Given the description of an element on the screen output the (x, y) to click on. 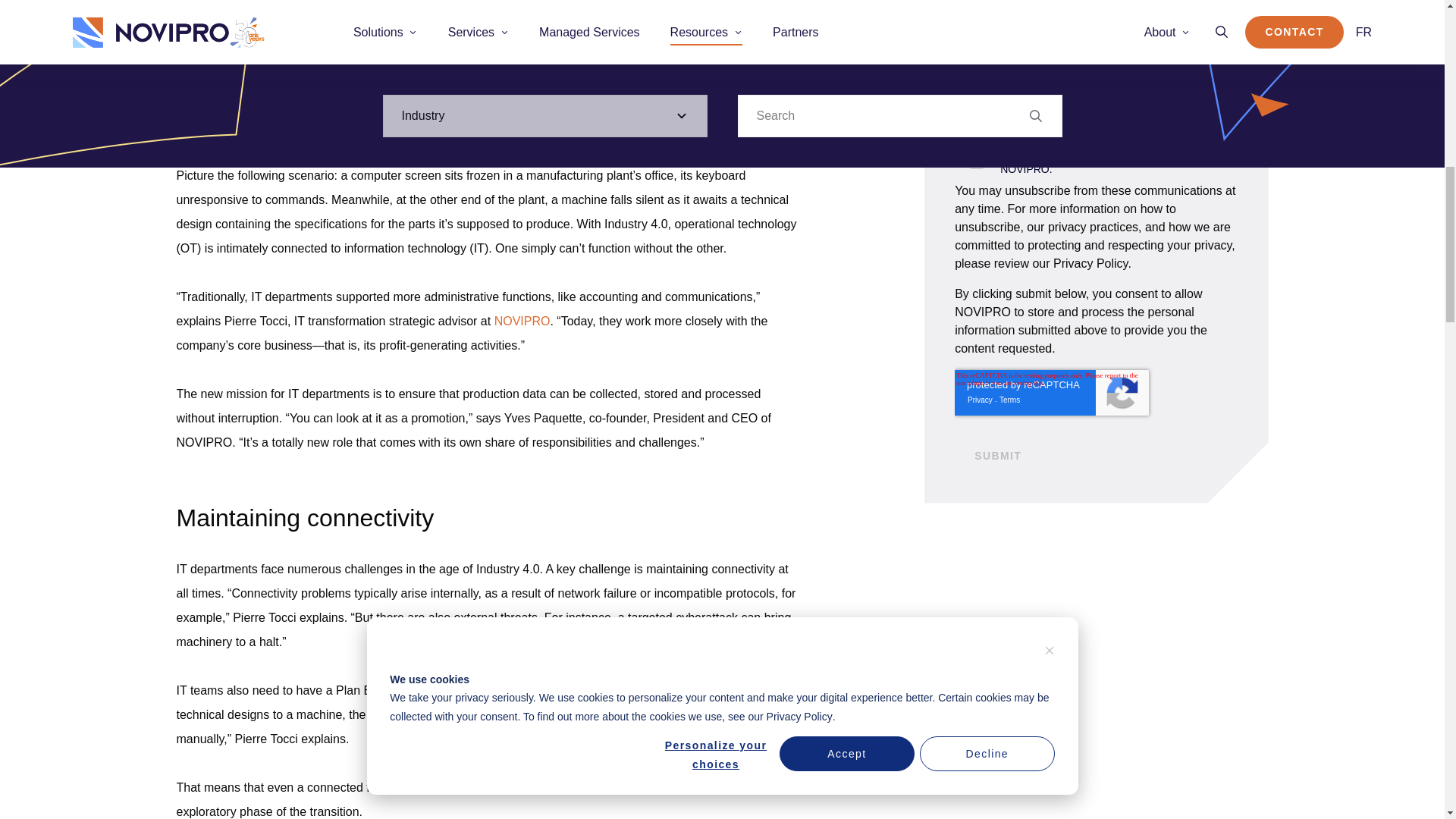
Submit (998, 456)
reCAPTCHA (1051, 392)
